Given the description of an element on the screen output the (x, y) to click on. 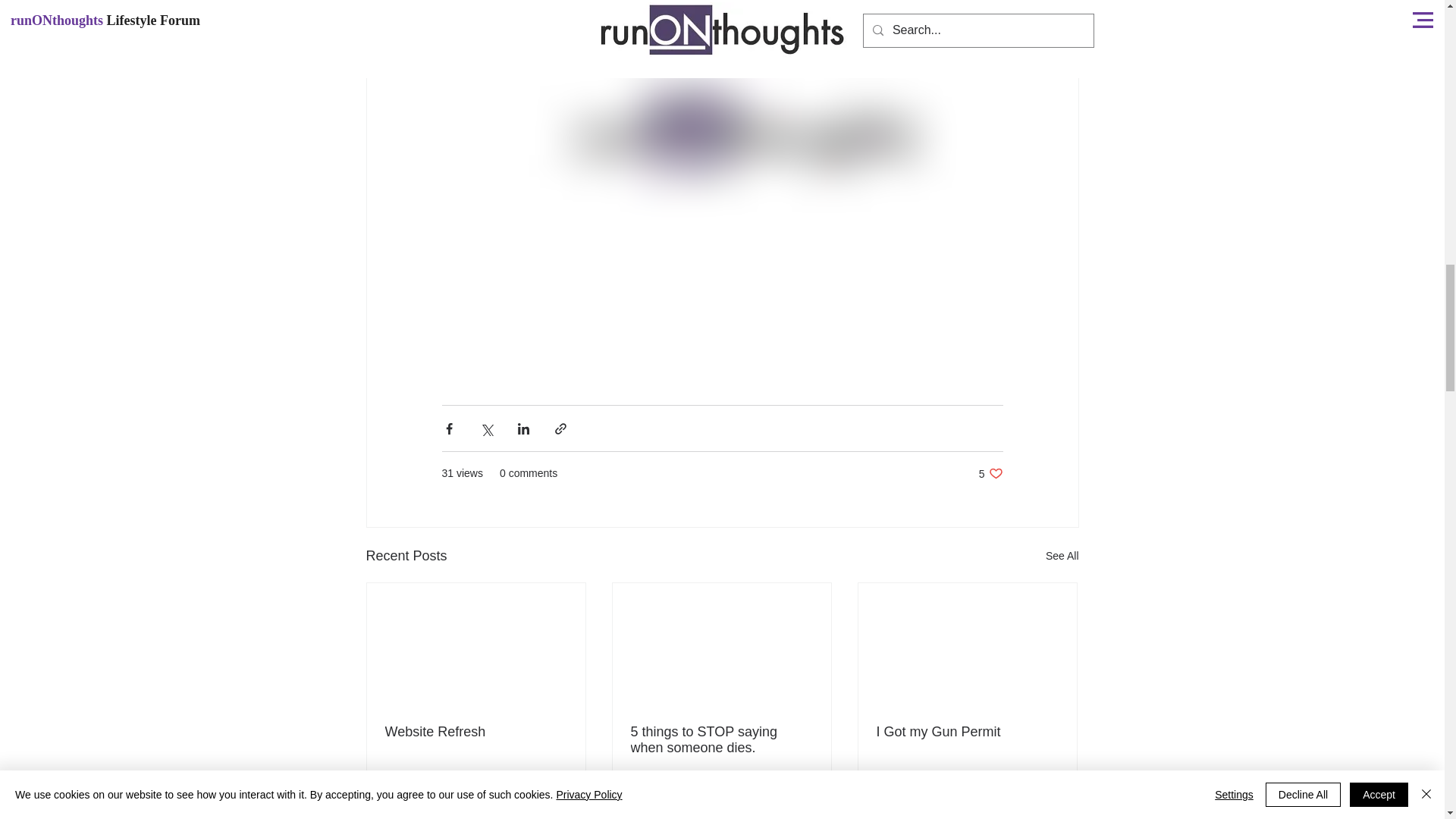
0 (685, 793)
0 (931, 793)
Website Refresh (1046, 793)
5 things to STOP saying when someone dies. (800, 793)
0 (476, 731)
See All (721, 739)
I Got my Gun Permit (555, 793)
